Given the description of an element on the screen output the (x, y) to click on. 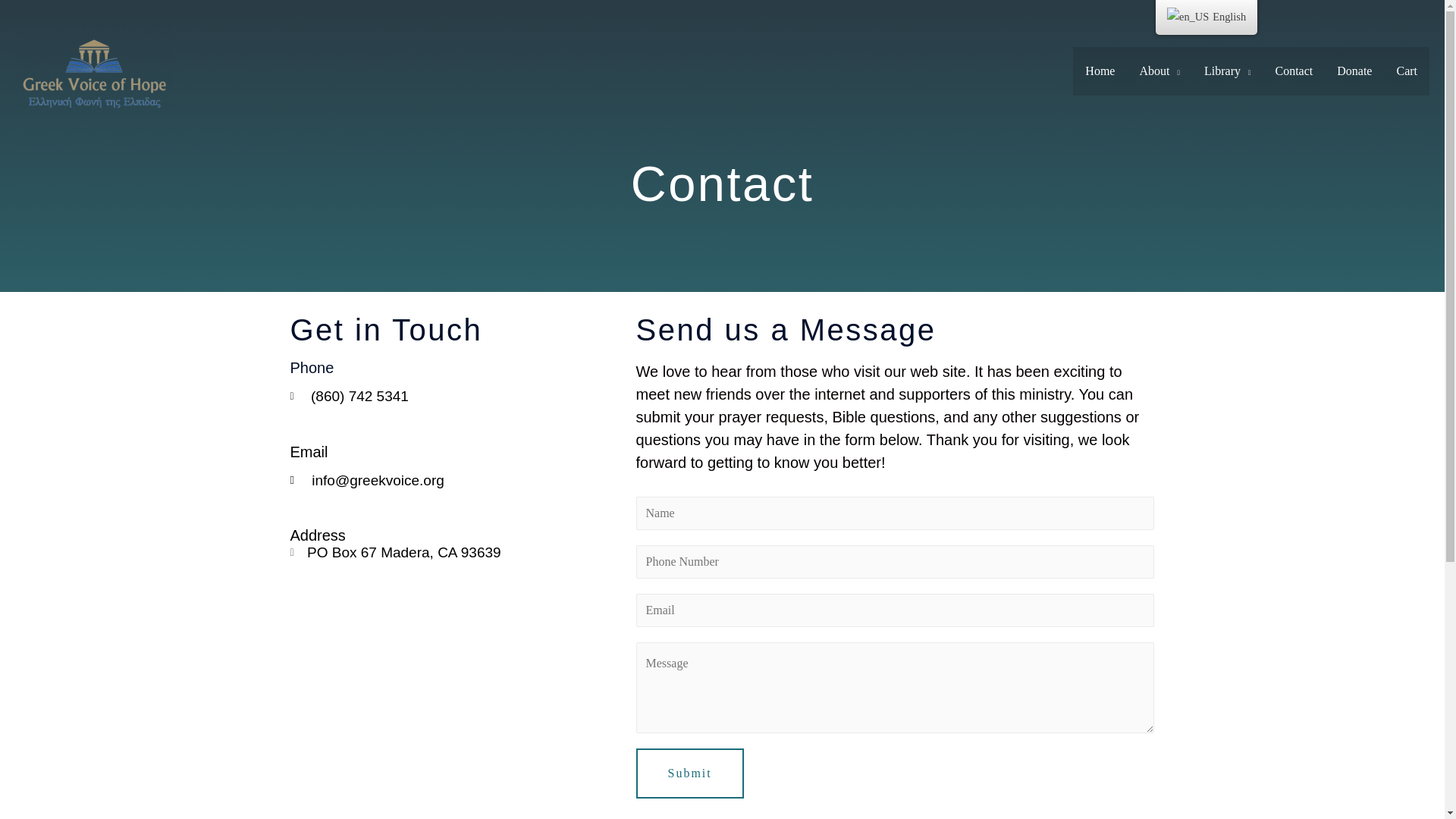
Contact (1293, 70)
Library (1227, 70)
About (1159, 70)
English (1206, 17)
Cart (1406, 70)
English (1187, 17)
Submit (688, 773)
Home (1099, 70)
Donate (1354, 70)
